Given the description of an element on the screen output the (x, y) to click on. 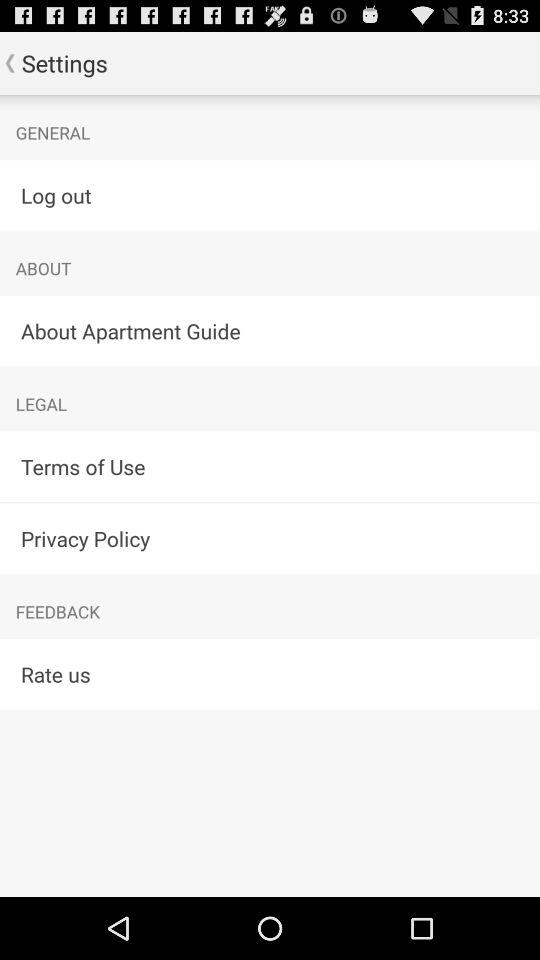
open the item above legal item (270, 330)
